Given the description of an element on the screen output the (x, y) to click on. 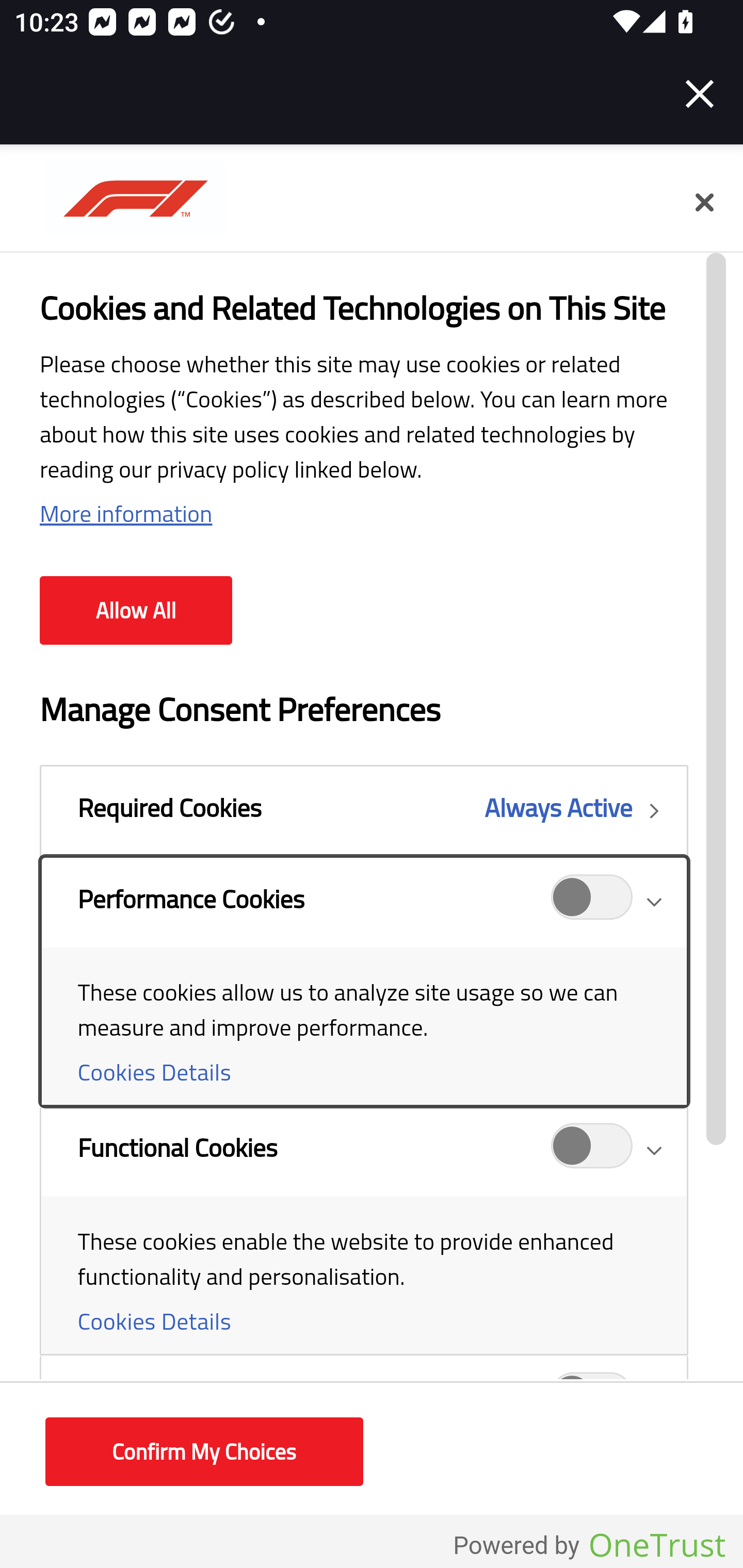
Close (699, 93)
Close (703, 203)
Allow All (135, 610)
Required Cookies (363, 811)
Performance Cookies (363, 982)
Performance Cookies (591, 902)
Functional Cookies (363, 1230)
Functional Cookies (591, 1151)
Confirm My Choices (203, 1452)
Powered by OneTrust Opens in a new Tab (589, 1546)
